Given the description of an element on the screen output the (x, y) to click on. 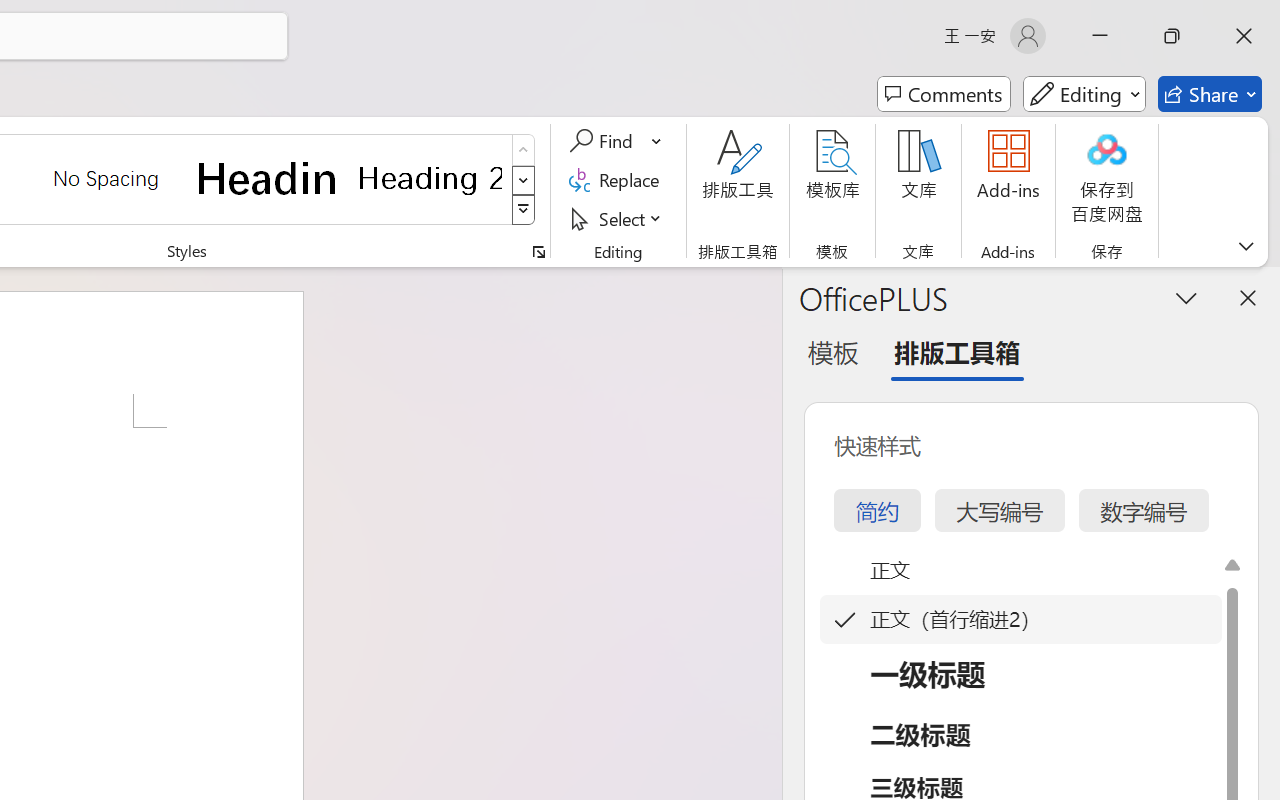
Task Pane Options (1186, 297)
